Given the description of an element on the screen output the (x, y) to click on. 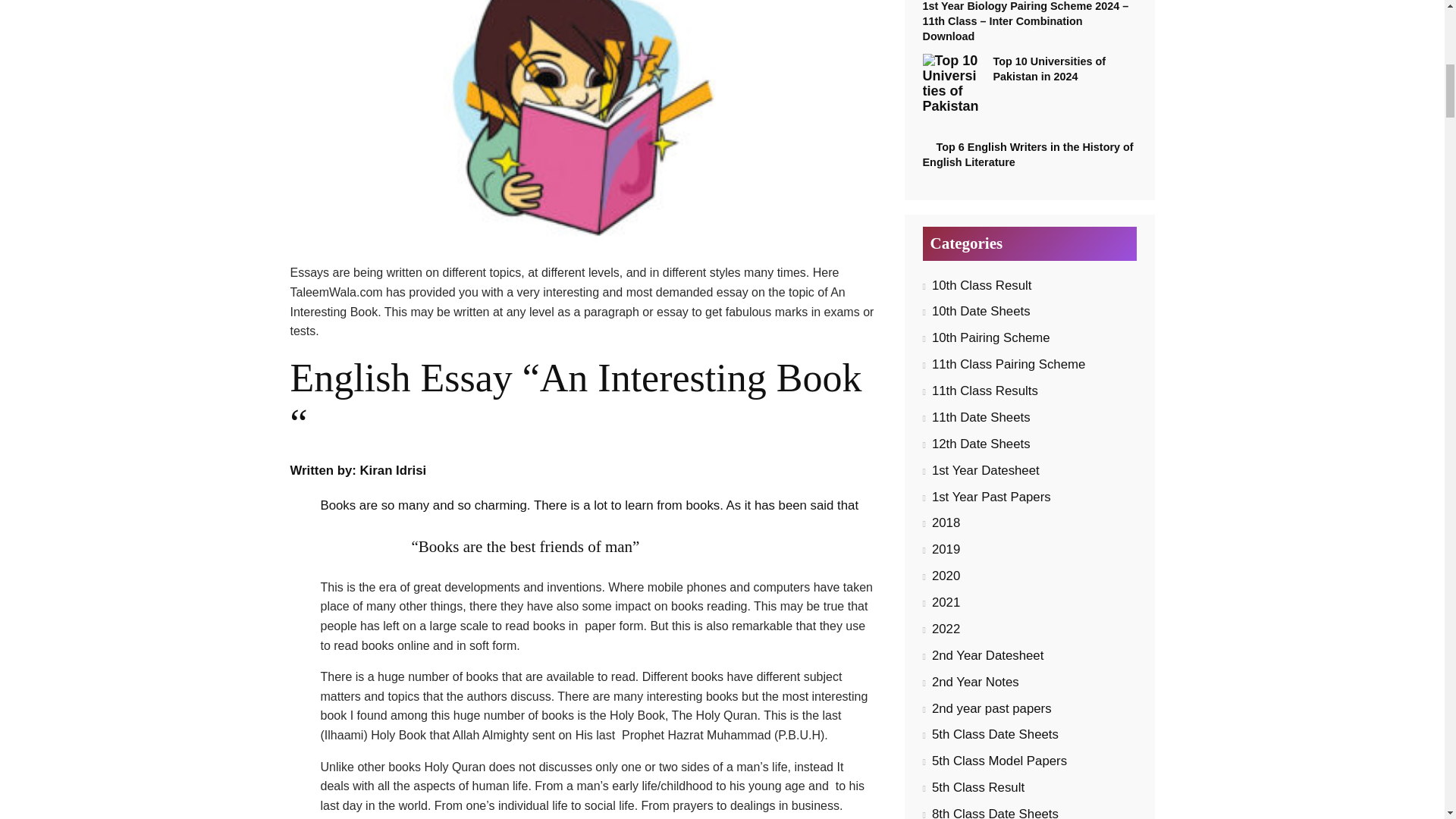
10th Class Result (981, 285)
Top 6 English Writers in the History of English Literature (1026, 154)
11th Class Results (984, 391)
11th Class Pairing Scheme (1007, 364)
11th Date Sheets (980, 417)
10th Pairing Scheme (990, 337)
English Essay "An Interesting Book " by Kiran Idrisi (582, 120)
10th Date Sheets (980, 310)
Top 10 Universities of Pakistan in 2024 (1048, 68)
